Given the description of an element on the screen output the (x, y) to click on. 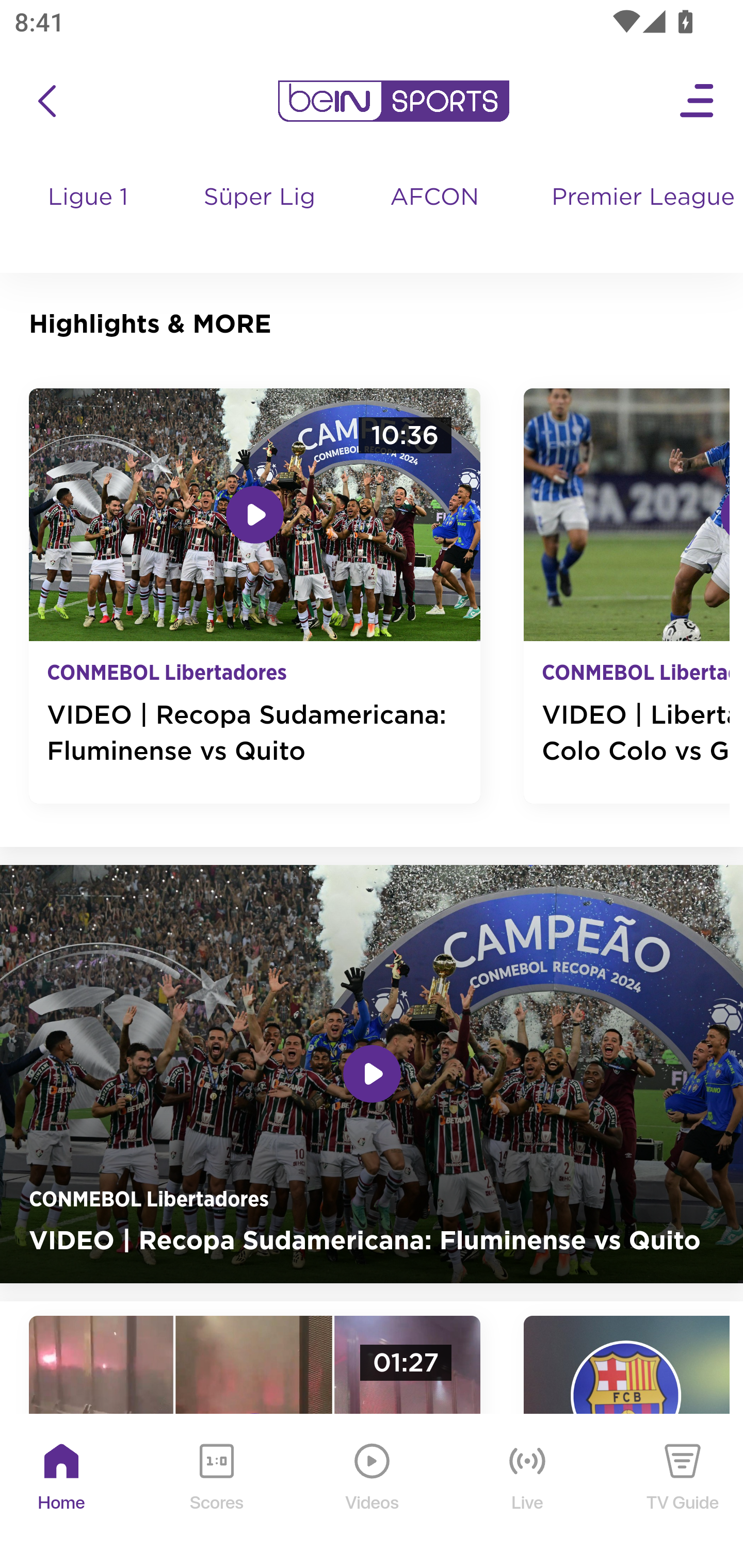
en-us?platform=mobile_android bein logo (392, 101)
icon back (46, 101)
Open Menu Icon (697, 101)
Ligue 1 (89, 216)
Süper Lig (260, 216)
AFCON (433, 198)
Premier League (639, 198)
Home Home Icon Home (61, 1491)
Scores Scores Icon Scores (216, 1491)
Videos Videos Icon Videos (372, 1491)
TV Guide TV Guide Icon TV Guide (682, 1491)
